Given the description of an element on the screen output the (x, y) to click on. 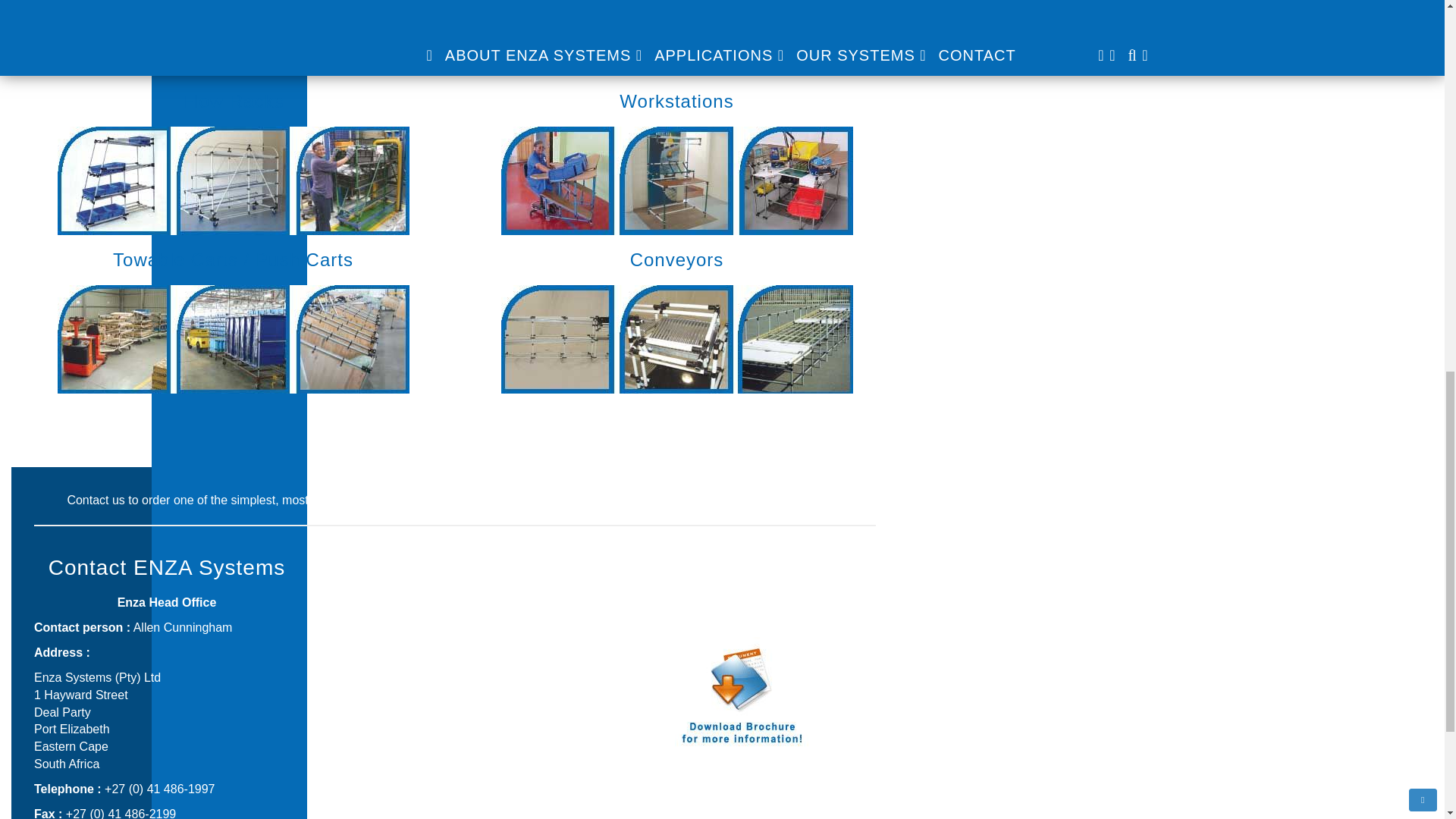
Download the Technical Details Brochure (742, 808)
Industrial Modular Solutions (454, 602)
Download the Technical Details Brochure (742, 808)
Home DIY (454, 652)
Download the Lean Brochure (742, 790)
Download the Lean Brochure (742, 790)
Retail Solutions (454, 626)
Email Us (775, 499)
